Given the description of an element on the screen output the (x, y) to click on. 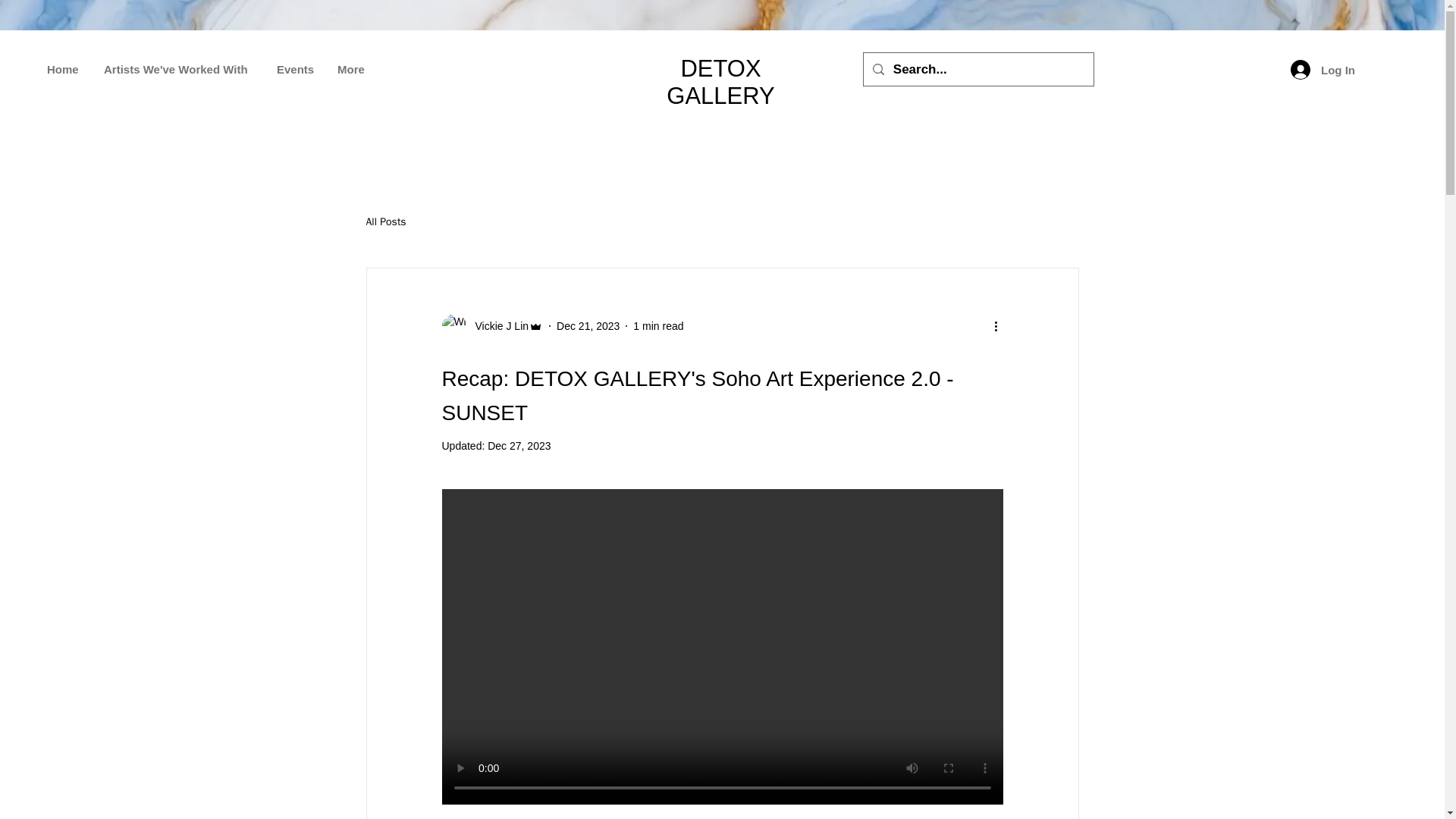
Artists We've Worked With (178, 69)
Home (63, 69)
Dec 21, 2023 (588, 326)
1 min read (657, 326)
Vickie J Lin (492, 325)
Log In (1322, 69)
Vickie J Lin (496, 326)
Events (295, 69)
All Posts (385, 222)
Dec 27, 2023 (518, 445)
